Given the description of an element on the screen output the (x, y) to click on. 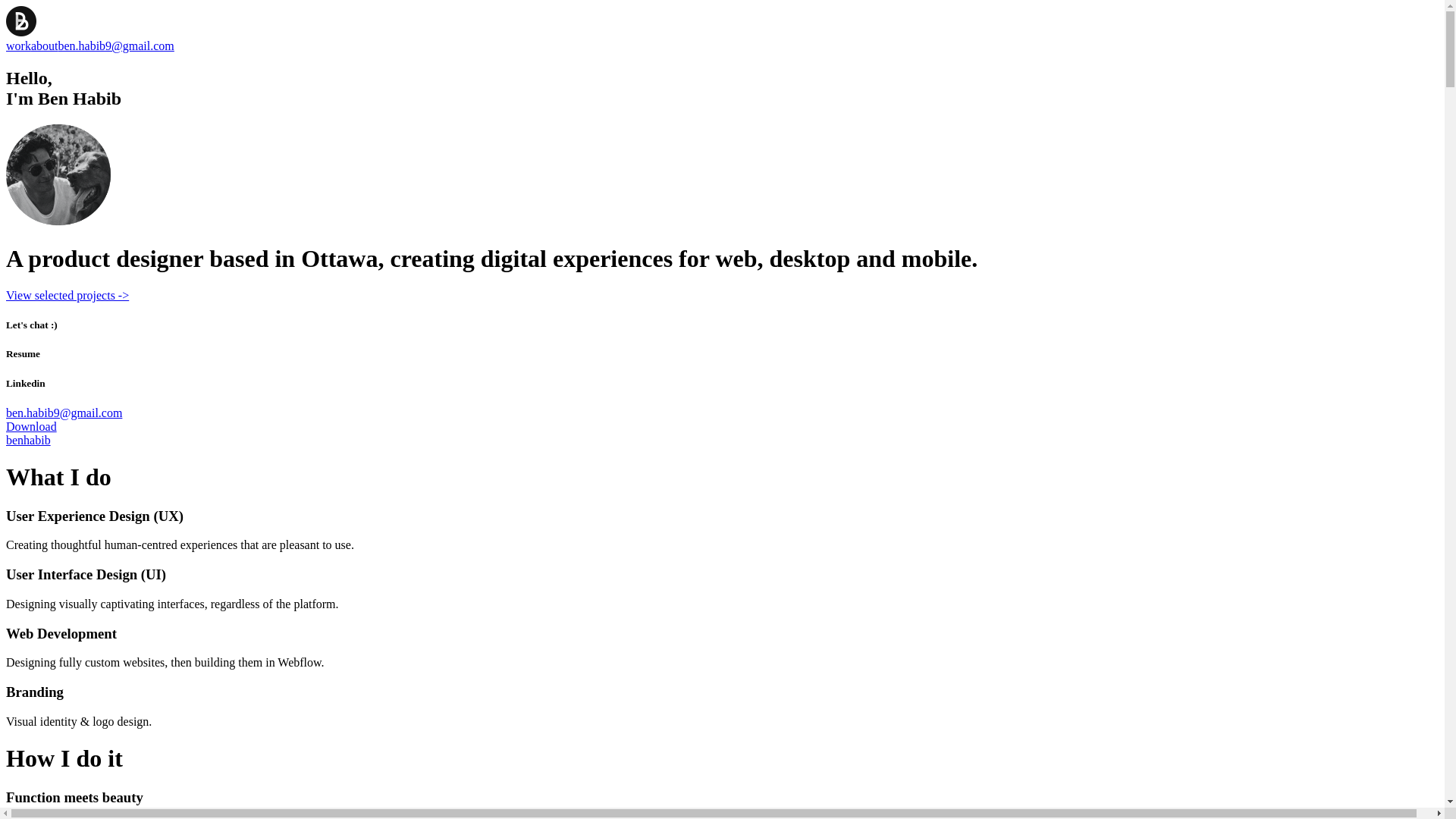
ben.habib9@gmail.com Element type: text (64, 412)
work Element type: text (18, 45)
View selected projects -> Element type: text (722, 295)
Download Element type: text (31, 426)
about Element type: text (44, 45)
ben.habib9@gmail.com Element type: text (115, 45)
benhabib Element type: text (28, 439)
